Given the description of an element on the screen output the (x, y) to click on. 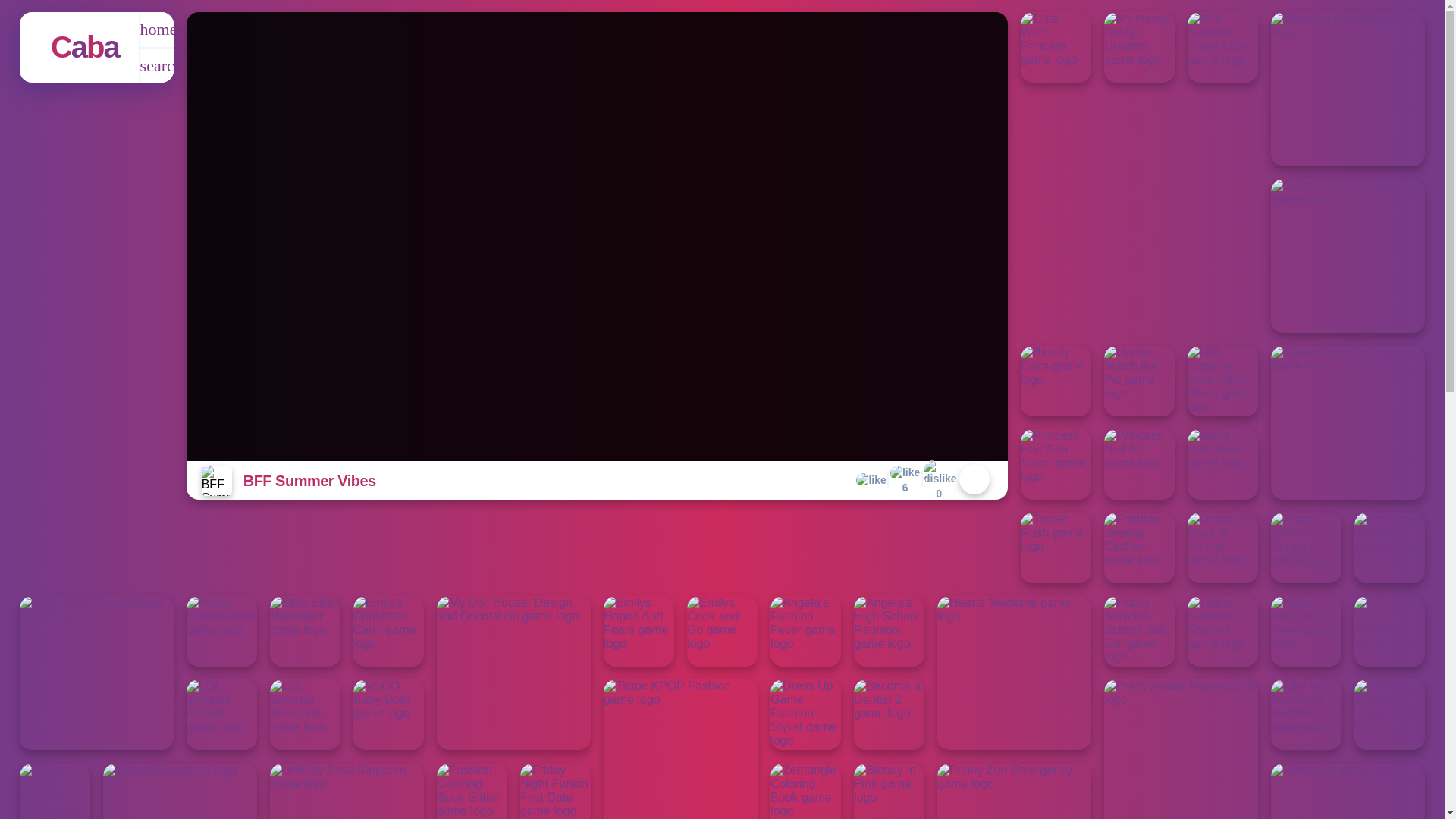
0 (938, 480)
6 (904, 480)
search (156, 65)
home (85, 47)
